Given the description of an element on the screen output the (x, y) to click on. 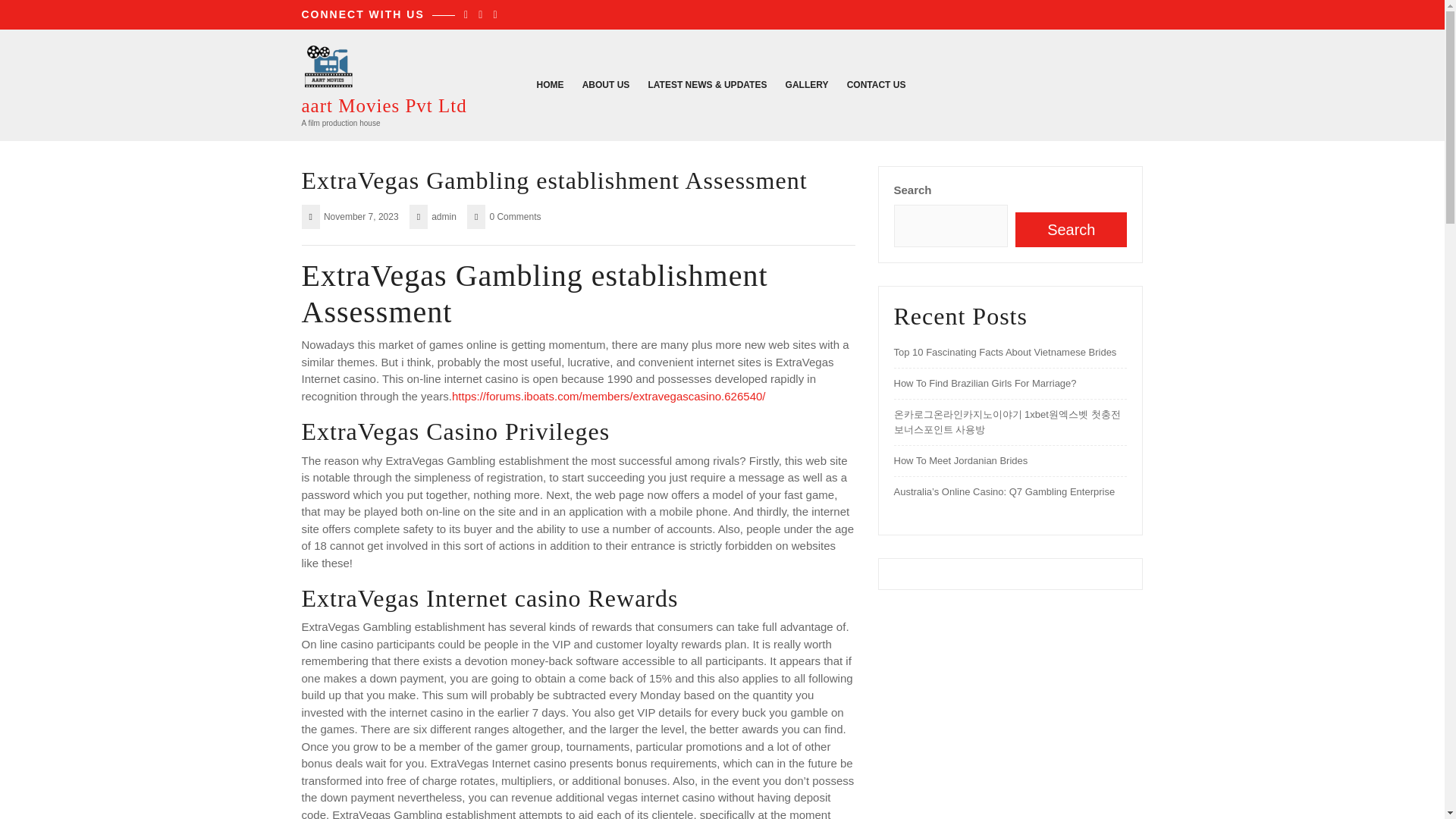
GALLERY (807, 84)
Top 10 Fascinating Facts About Vietnamese Brides (1004, 351)
Search (1070, 229)
ABOUT US (606, 84)
CONTACT US (876, 84)
aart Movies Pvt Ltd (384, 105)
HOME (550, 84)
How To Find Brazilian Girls For Marriage? (984, 383)
How To Meet Jordanian Brides (960, 460)
